Given the description of an element on the screen output the (x, y) to click on. 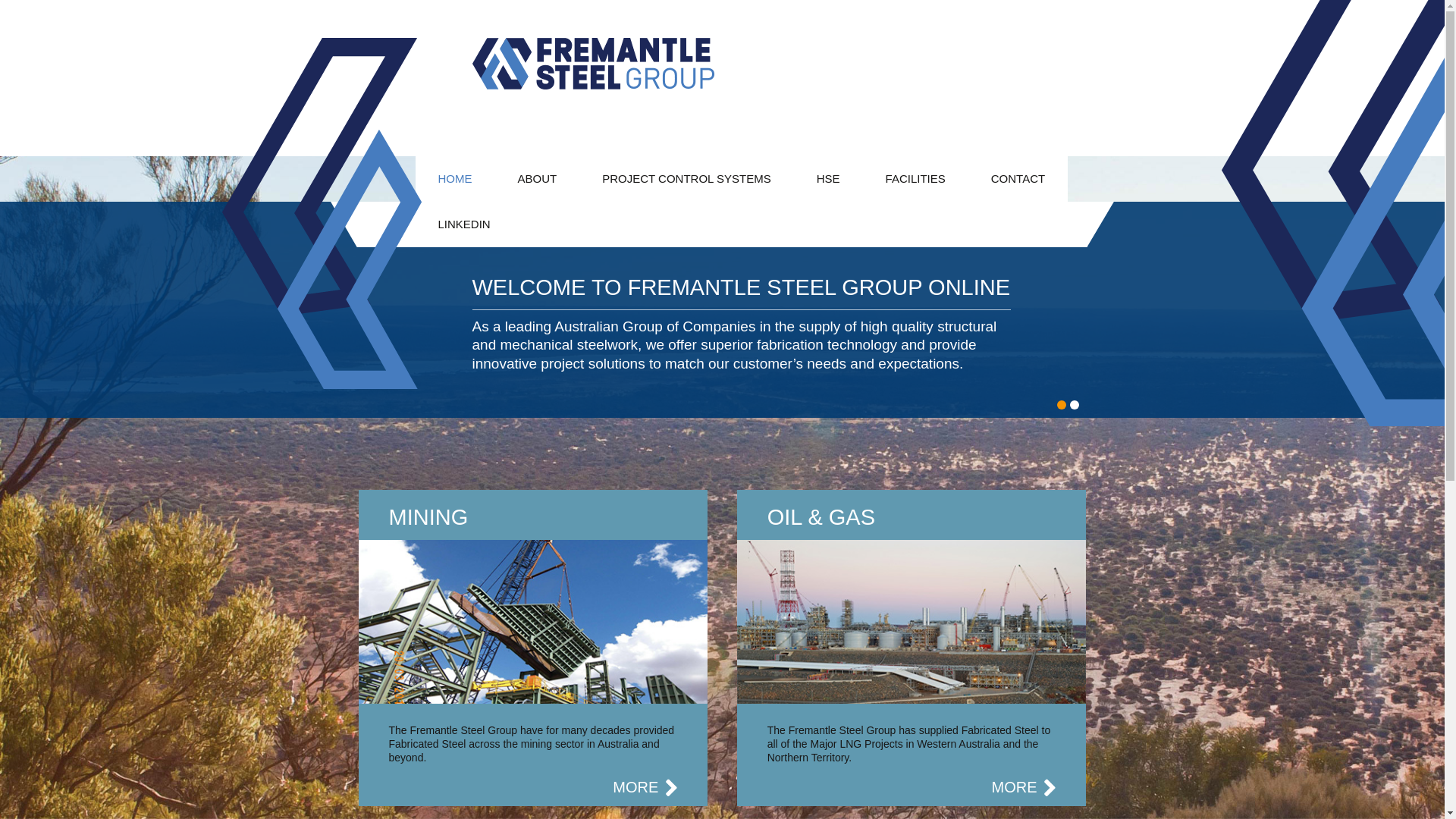
HSE Element type: text (827, 178)
ABOUT Element type: text (536, 178)
CONTACT Element type: text (1017, 178)
FACILITIES Element type: text (915, 178)
LINKEDIN Element type: text (464, 224)
HOME Element type: text (455, 178)
PROJECT CONTROL SYSTEMS Element type: text (686, 178)
